Given the description of an element on the screen output the (x, y) to click on. 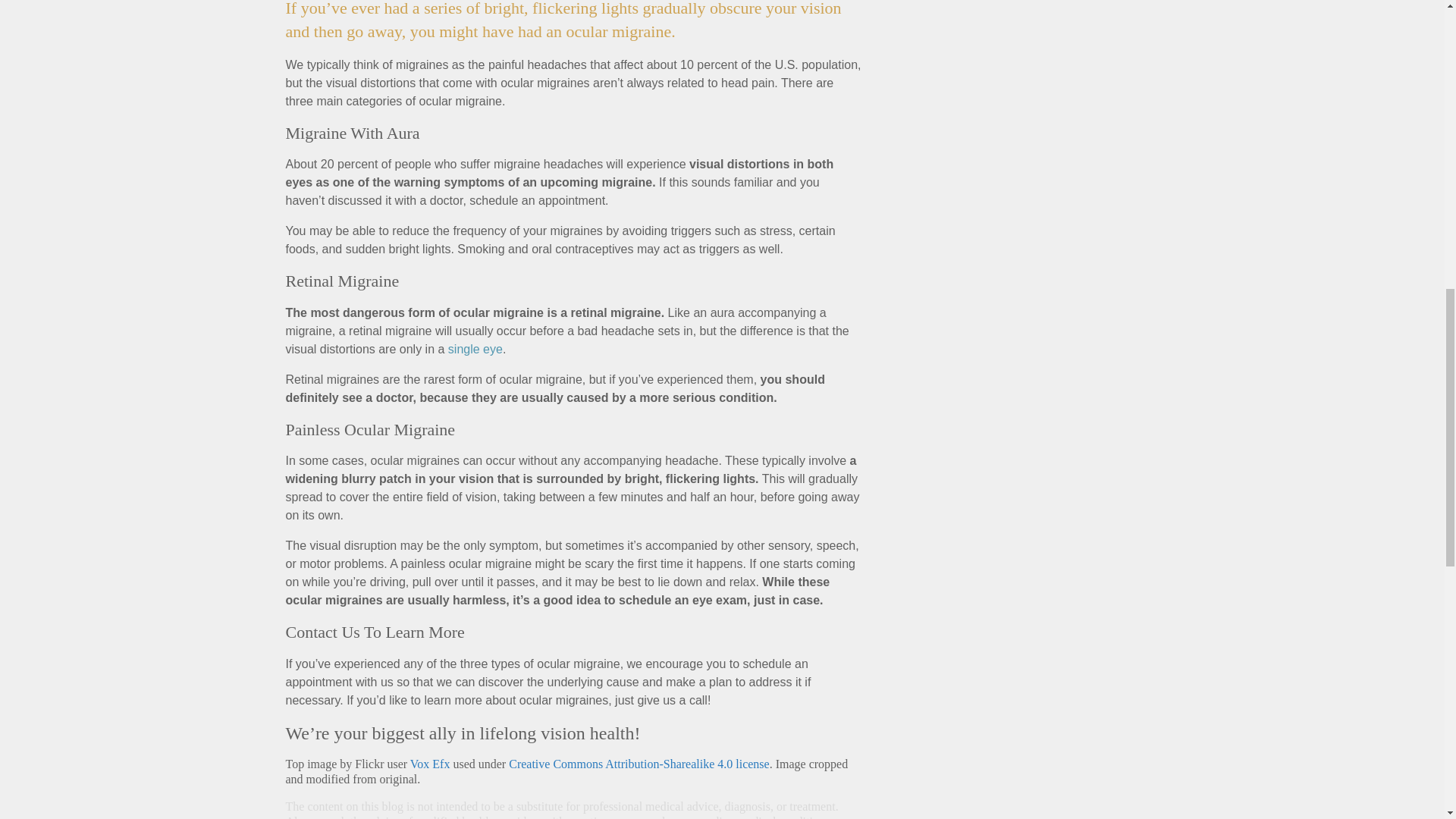
single eye (475, 349)
Vox Efx (429, 763)
Creative Commons Attribution-Sharealike 4.0 license (638, 763)
